Given the description of an element on the screen output the (x, y) to click on. 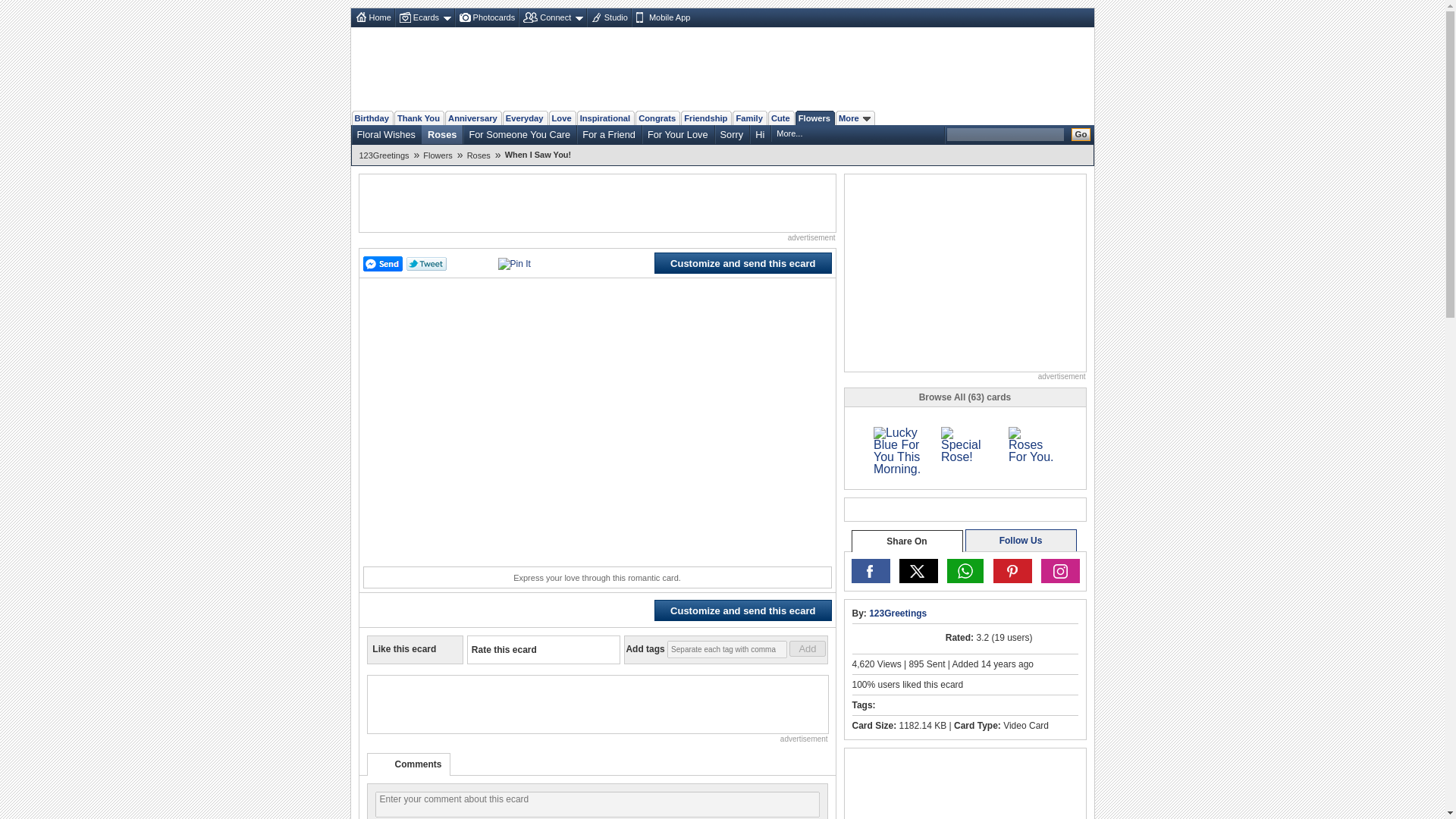
Sorry (732, 134)
Thank You (418, 117)
Roses (442, 134)
Connect (551, 17)
Floral Wishes (386, 134)
Congrats (656, 117)
Studio (608, 17)
Cute (780, 117)
Photocards (486, 17)
Love (561, 117)
More (854, 117)
Cute Cards (780, 117)
Inspirational (604, 117)
Mobile App (661, 17)
Family (748, 117)
